Given the description of an element on the screen output the (x, y) to click on. 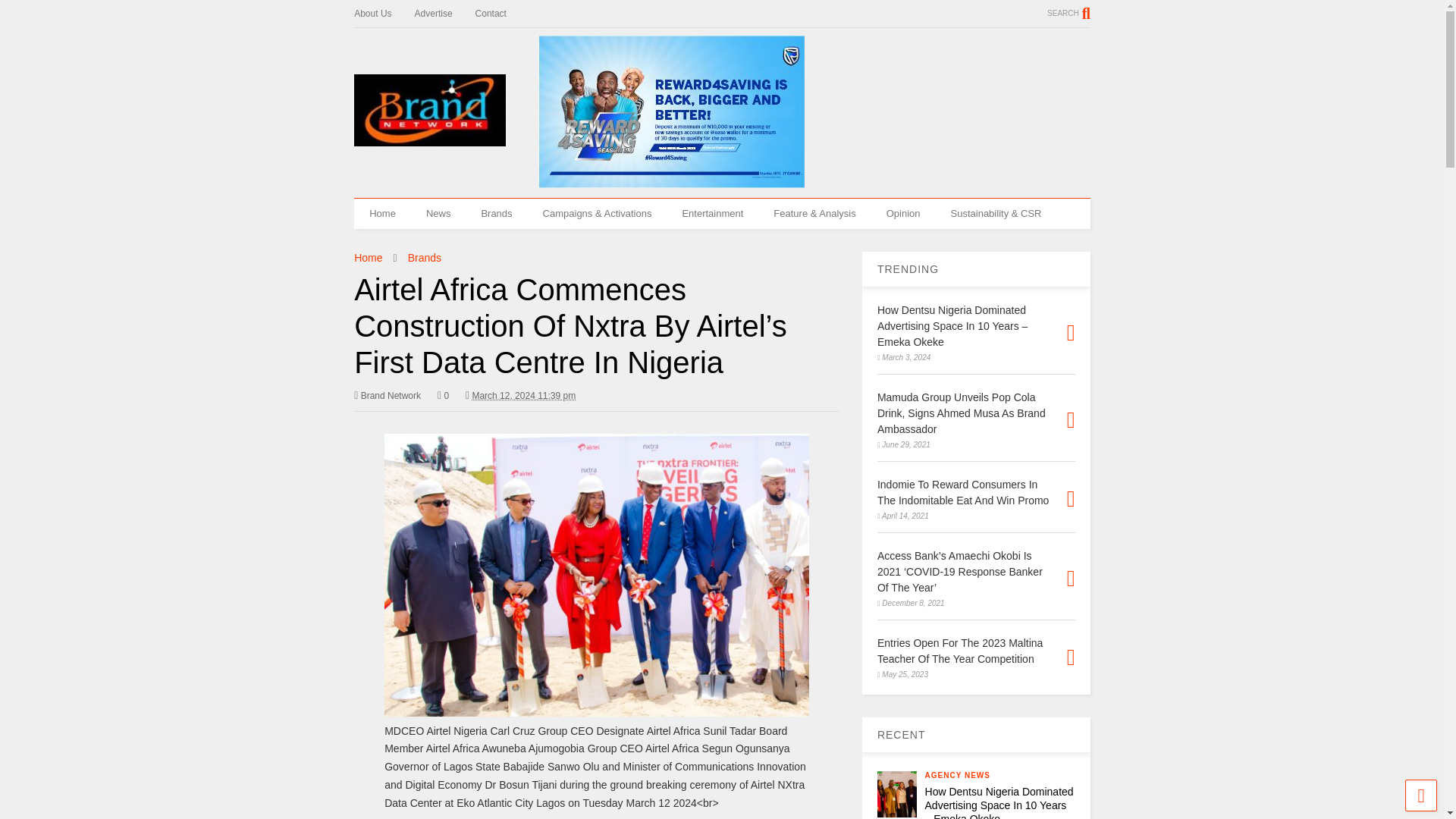
Advertise (445, 13)
Home (367, 257)
Brands (424, 257)
March 12, 2024 11:39 pm (520, 395)
Home (381, 214)
D-98 - Brand Network (897, 794)
Press-Photo-2-NXTRA - Brand Network (596, 575)
Brand Network (386, 395)
About Us (383, 13)
Entertainment (712, 214)
News (437, 214)
Contact (502, 13)
SEARCH (1068, 13)
Brand Network (386, 395)
Opinion (903, 214)
